Given the description of an element on the screen output the (x, y) to click on. 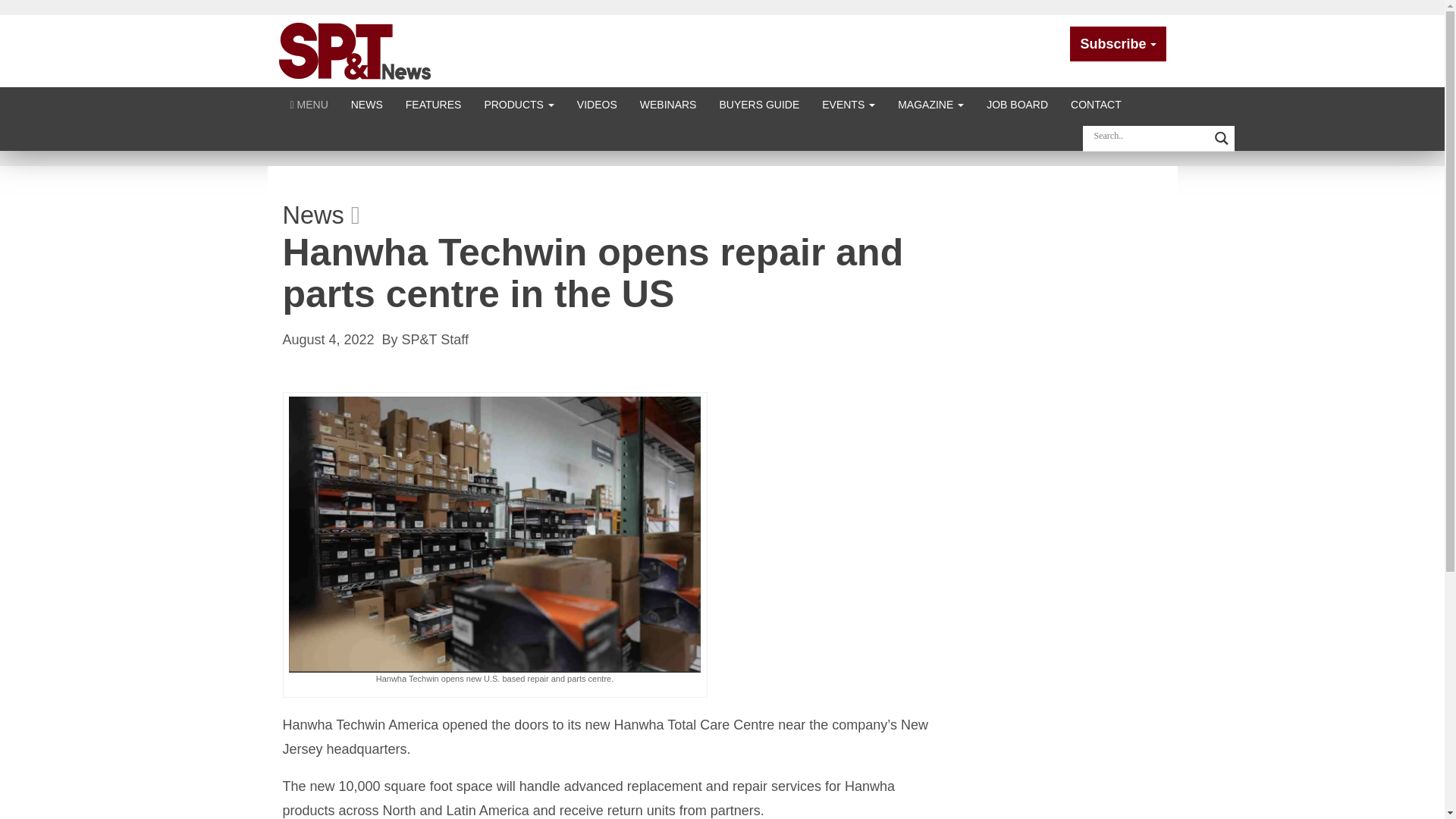
CONTACT (1095, 103)
PRODUCTS (517, 103)
FEATURES (433, 103)
WEBINARS (667, 103)
MENU (309, 103)
VIDEOS (597, 103)
Click to show site navigation (309, 103)
JOB BOARD (1017, 103)
NEWS (366, 103)
BUYERS GUIDE (758, 103)
